Given the description of an element on the screen output the (x, y) to click on. 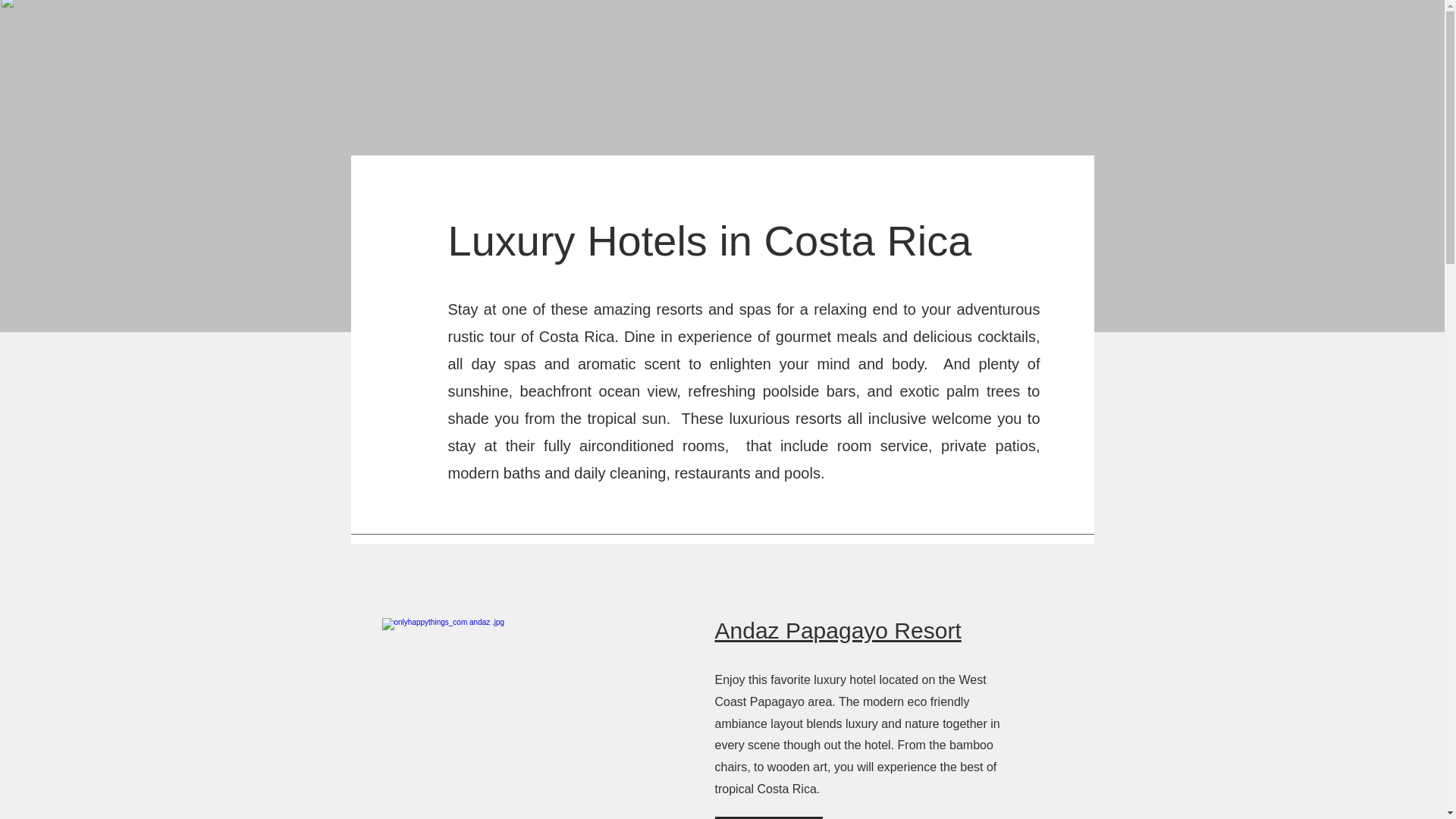
HAPPY THINGS (581, 20)
View Video (768, 817)
Log In (1027, 26)
HAPPY NEWS (467, 20)
Andaz Papagayo Resort (837, 630)
HOME (381, 20)
HAPPY TRAVEL (698, 20)
